Given the description of an element on the screen output the (x, y) to click on. 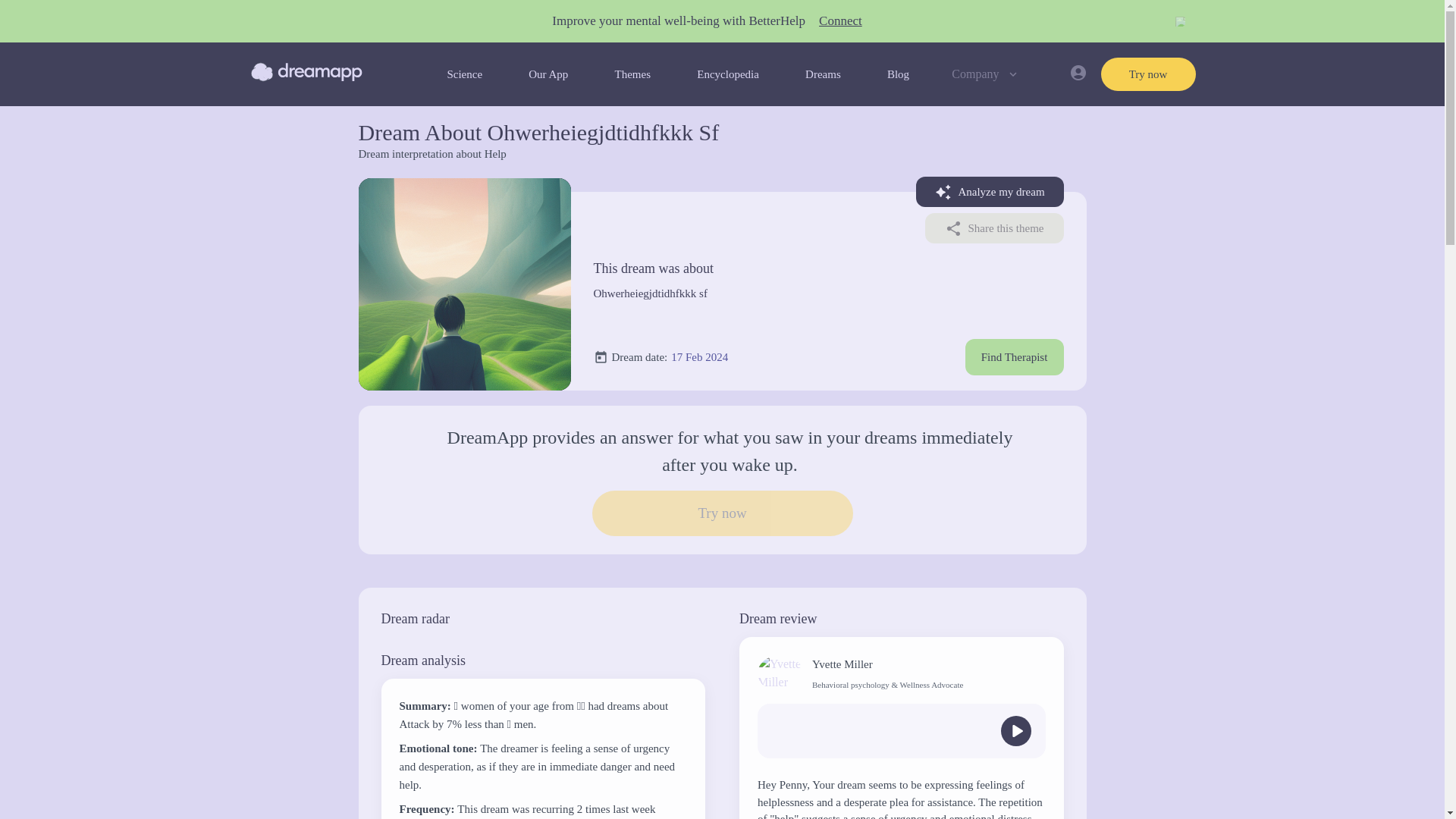
Analyze my dream (989, 191)
Connect (839, 21)
Dreams (823, 74)
Try now (1147, 73)
Share this theme (994, 227)
Our App (548, 74)
Blog (897, 74)
Themes (632, 74)
Science (464, 74)
Improve your mental well-being with BetterHelp (678, 21)
Encyclopedia (727, 74)
Company (986, 73)
